Given the description of an element on the screen output the (x, y) to click on. 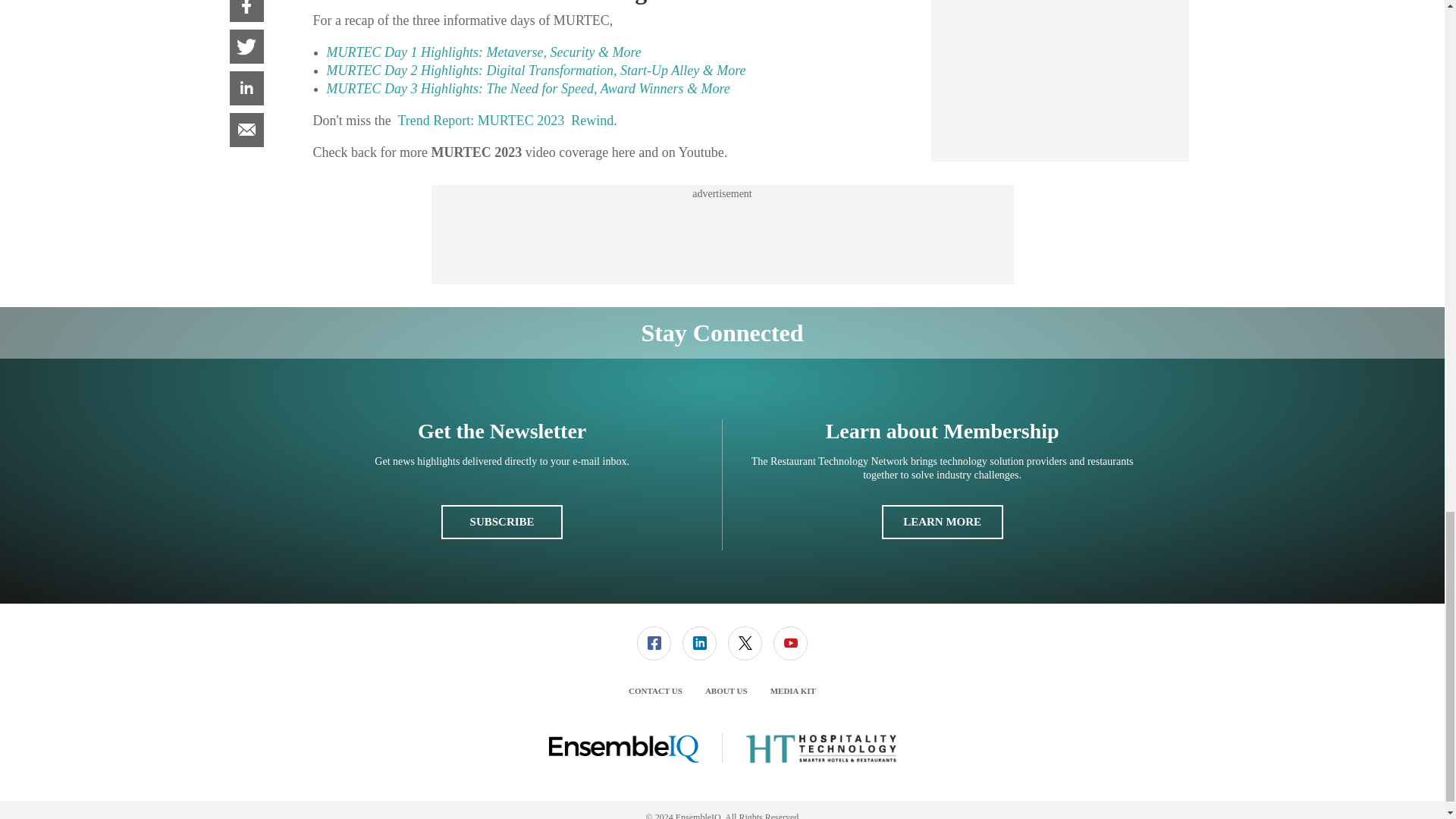
Trend Report: MURTEC 2023  Rewind (504, 120)
3rd party ad content (721, 234)
SUBSCRIBE (501, 521)
